Given the description of an element on the screen output the (x, y) to click on. 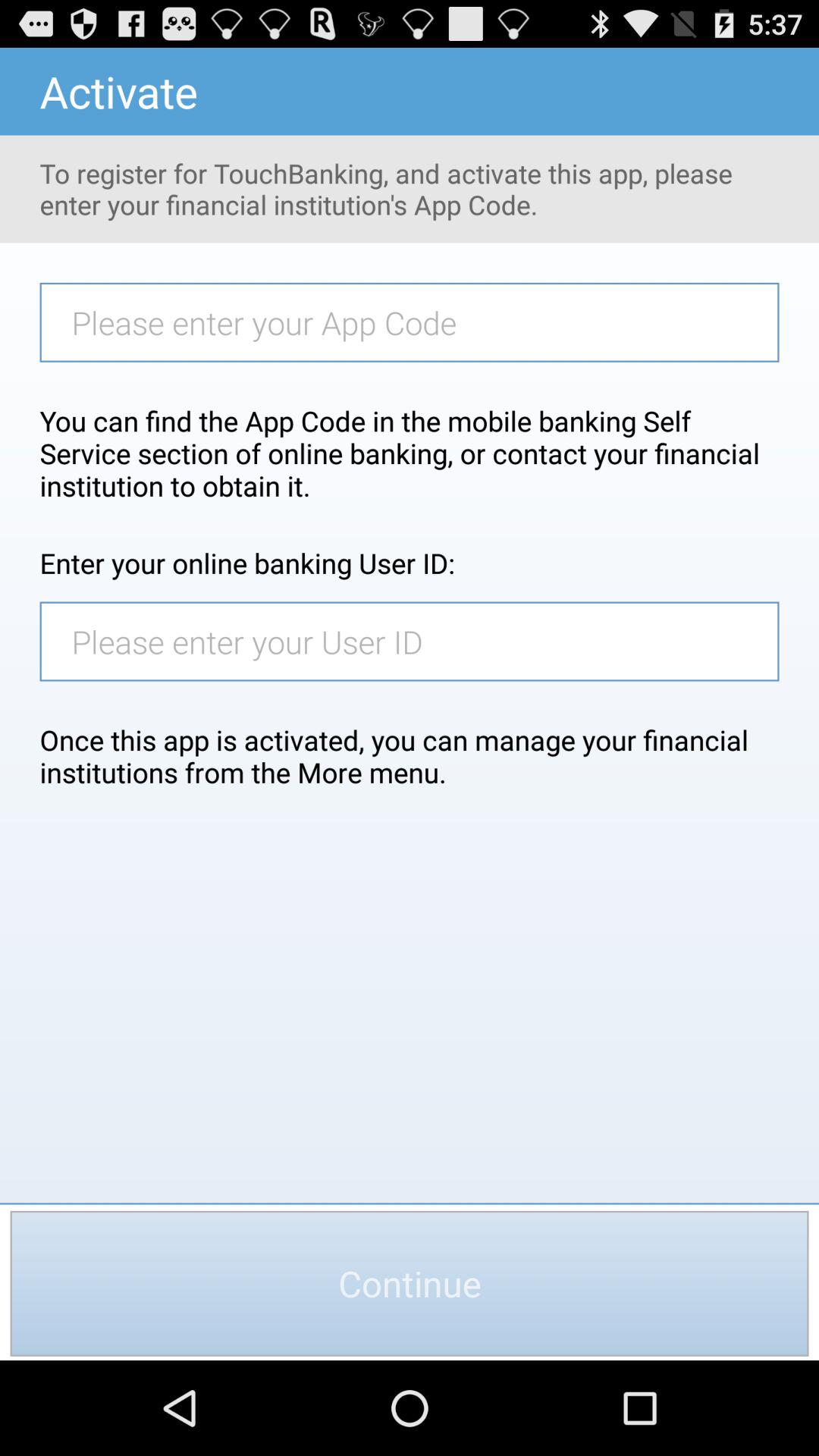
enter code (417, 322)
